Given the description of an element on the screen output the (x, y) to click on. 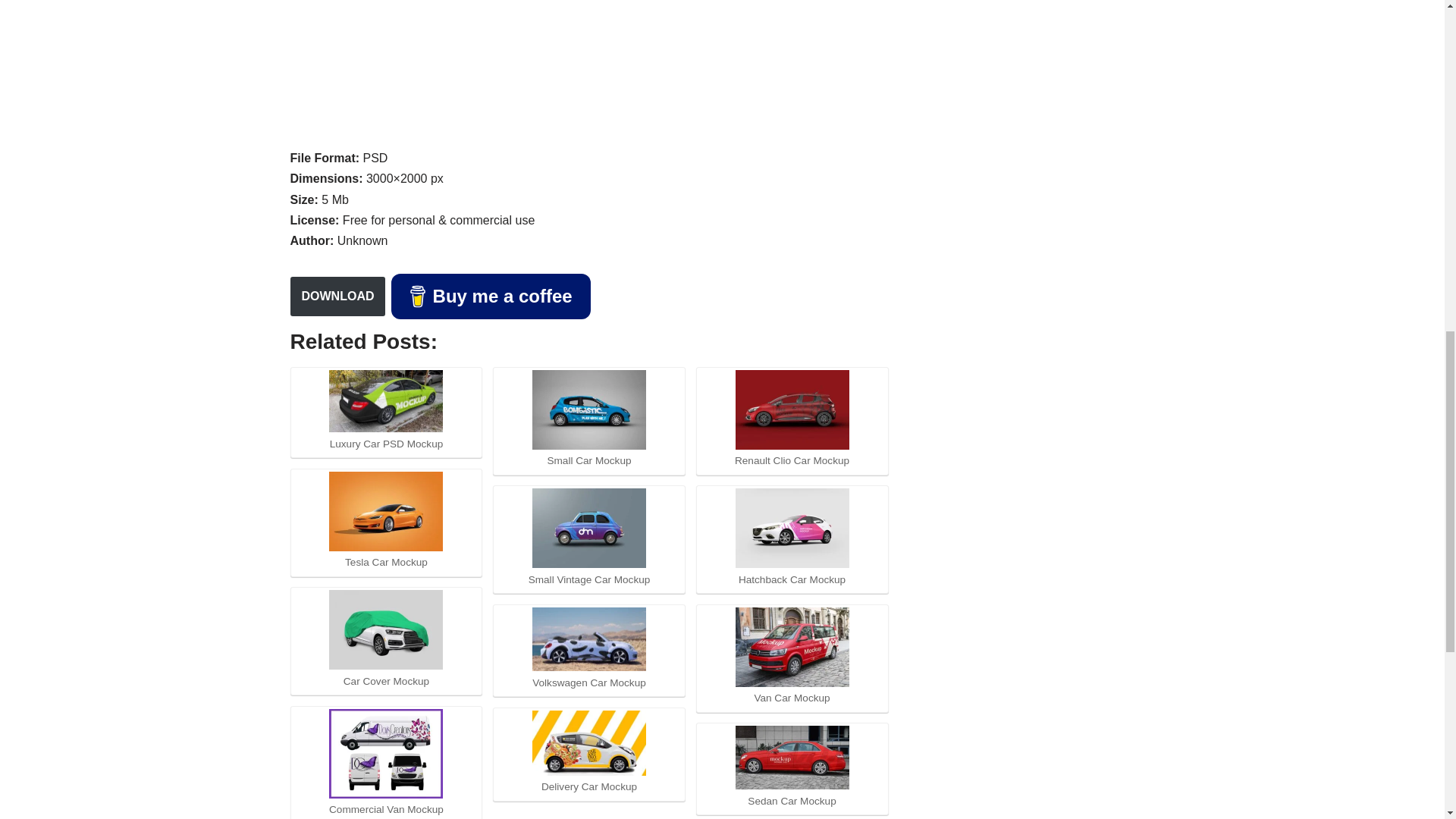
Small Car Mockup (589, 409)
Hatchback Car Mockup (791, 528)
Advertisement (588, 70)
Commercial Van Mockup (385, 753)
Small Vintage Car Mockup (589, 528)
Tesla Car Mockup (385, 511)
Delivery Car Mockup (589, 742)
Sedan Car Mockup (791, 757)
Volkswagen Car Mockup (589, 639)
Van Car Mockup (791, 647)
Renault Clio Car Mockup (791, 409)
Luxury Car PSD Mockup (385, 401)
Car Cover Mockup (385, 629)
